Given the description of an element on the screen output the (x, y) to click on. 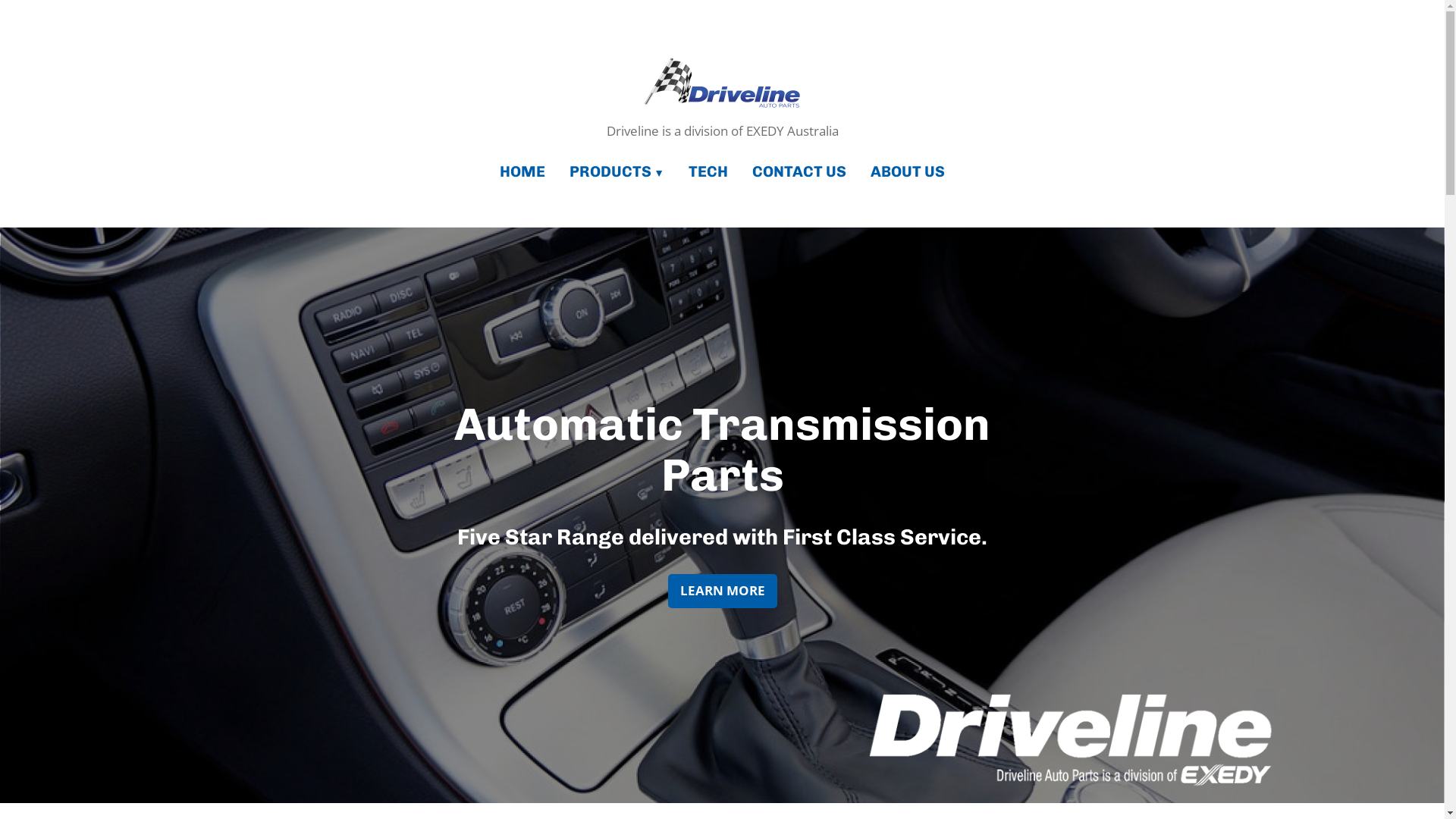
PRODUCTS Element type: text (616, 172)
CONTACT US Element type: text (799, 172)
TECH Element type: text (708, 172)
ABOUT US Element type: text (901, 172)
LEARN MORE Element type: text (721, 591)
HOME Element type: text (528, 172)
